Given the description of an element on the screen output the (x, y) to click on. 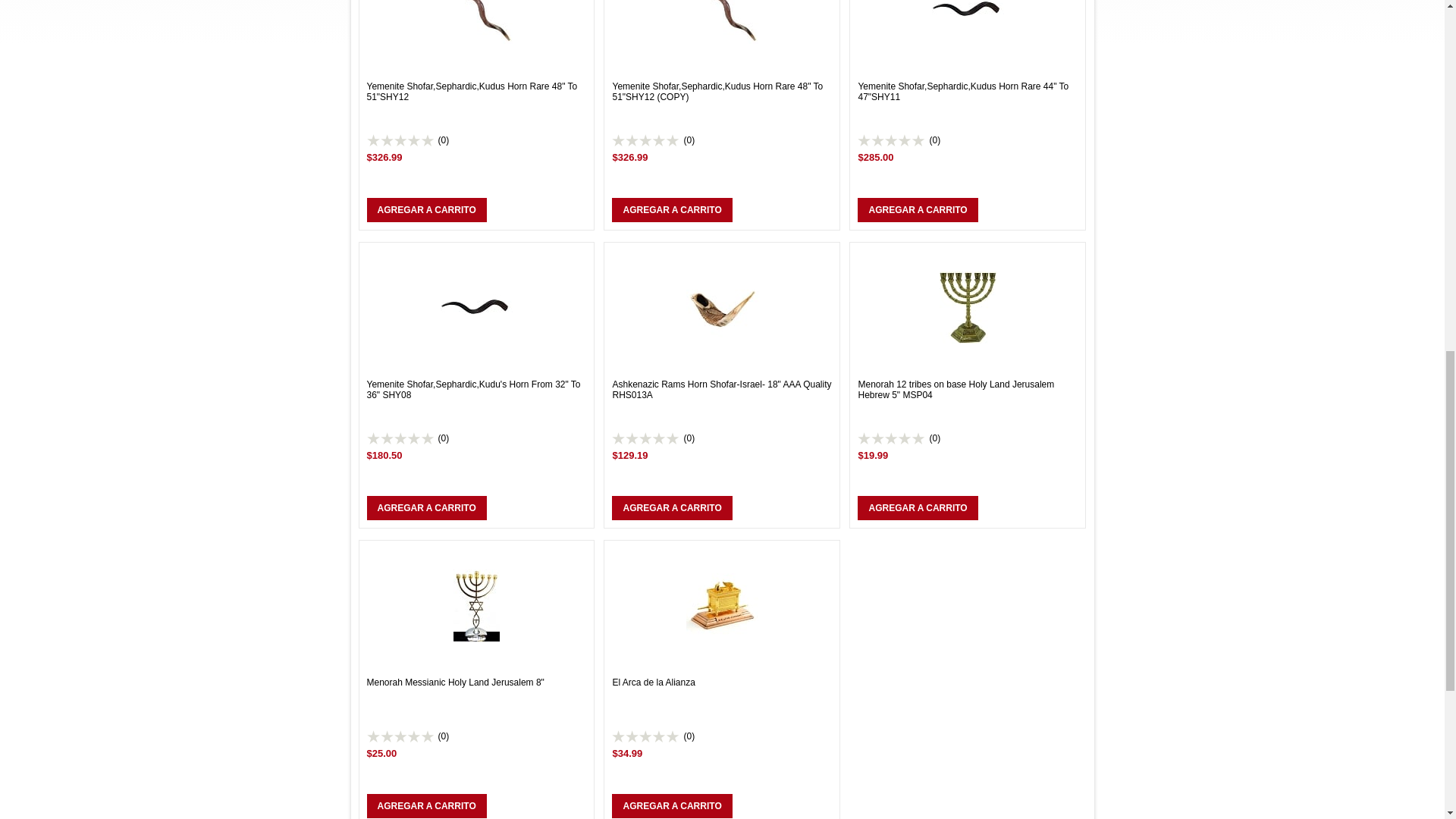
Agregar a carrito (426, 508)
Agregar a carrito (671, 209)
Agregar a carrito (426, 805)
Agregar a carrito (671, 805)
Agregar a carrito (671, 508)
Agregar a carrito (426, 209)
Agregar a carrito (916, 209)
Agregar a carrito (916, 508)
